Given the description of an element on the screen output the (x, y) to click on. 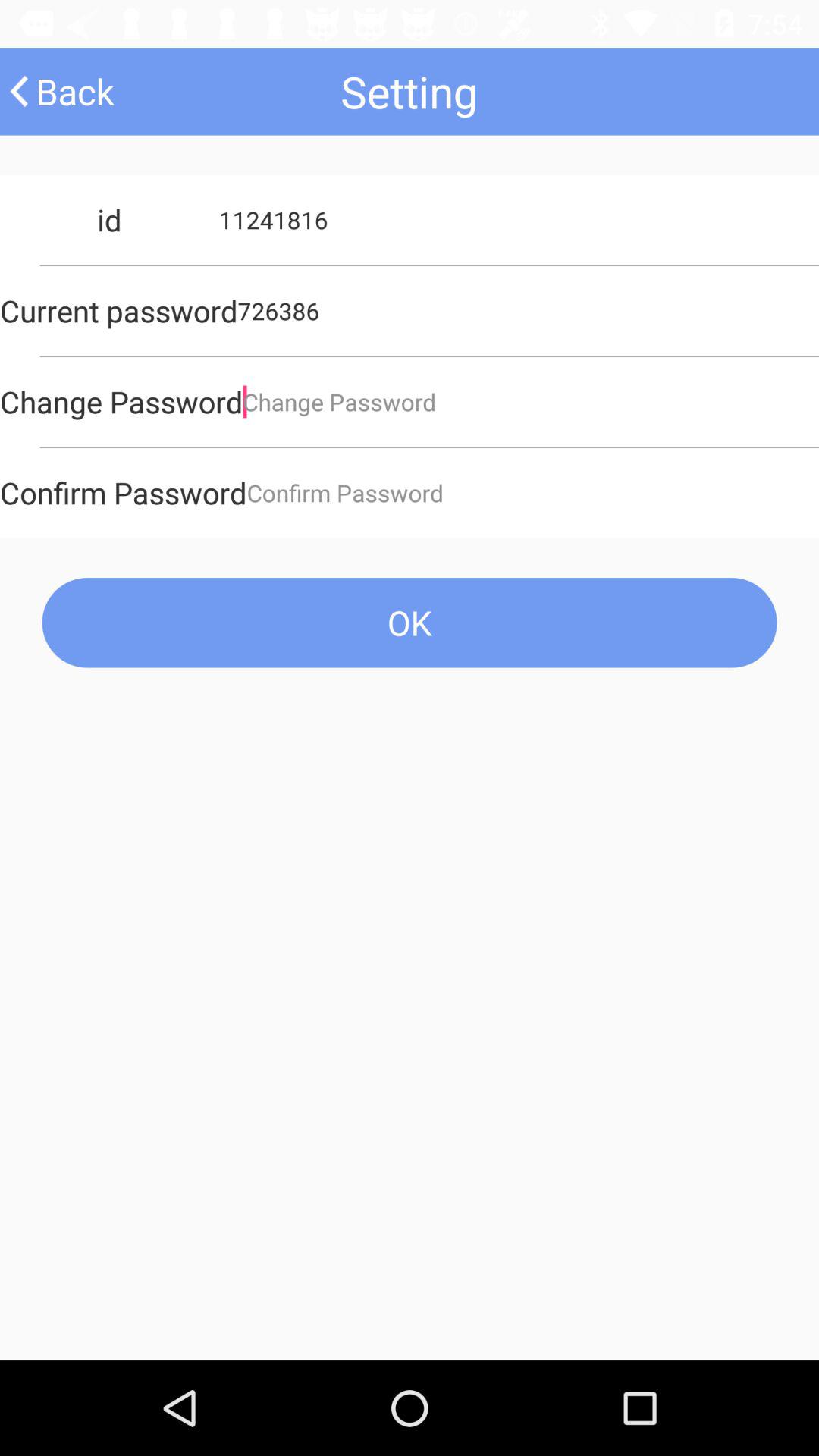
scroll until ok icon (409, 622)
